Given the description of an element on the screen output the (x, y) to click on. 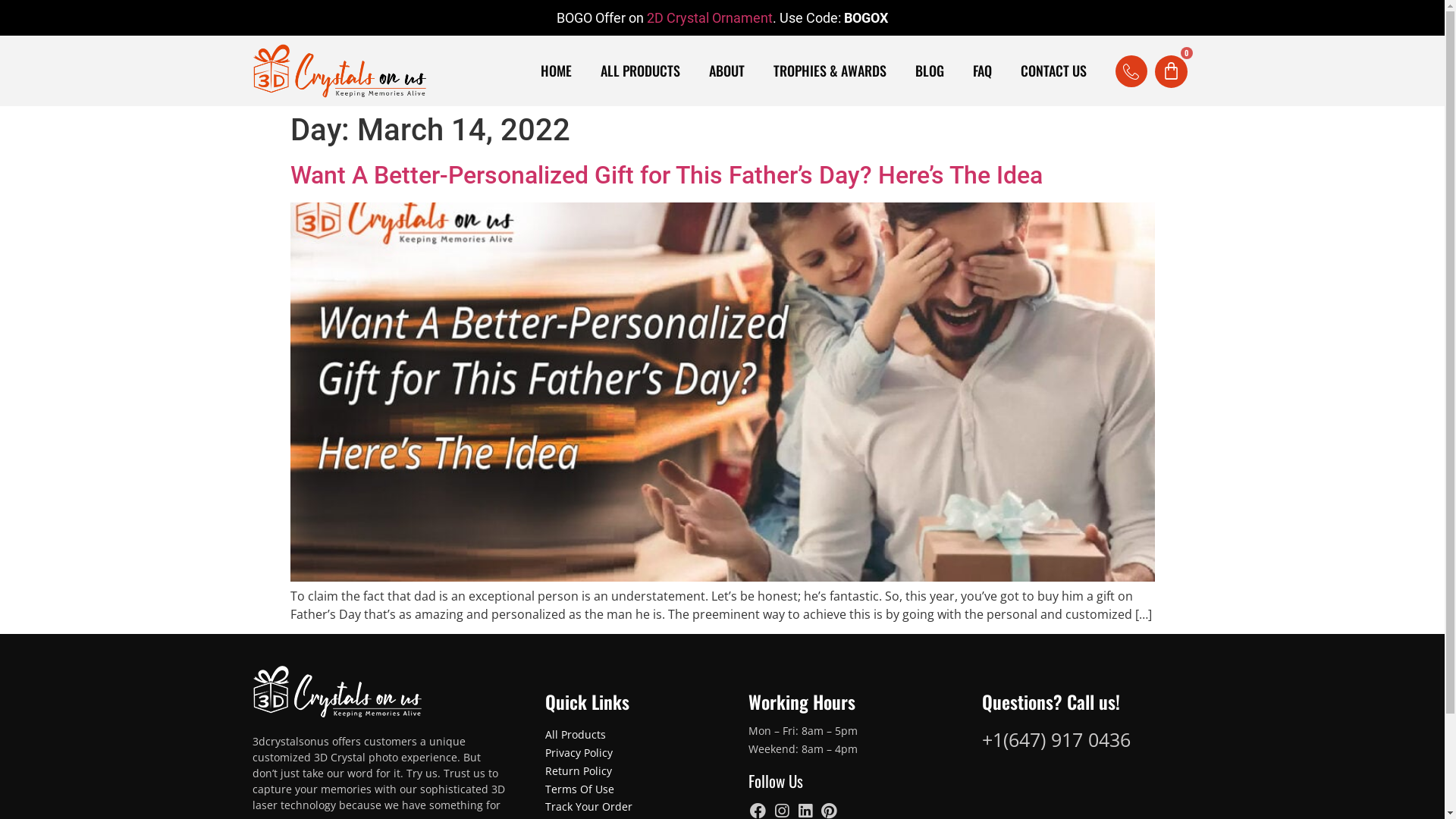
CONTACT US Element type: text (1053, 70)
Privacy Policy Element type: text (578, 752)
ALL PRODUCTS Element type: text (639, 70)
All Products Element type: text (575, 734)
FAQ Element type: text (982, 70)
TROPHIES & AWARDS Element type: text (829, 70)
ABOUT Element type: text (726, 70)
Terms Of Use Element type: text (579, 788)
2D Crystal Ornament Element type: text (709, 17)
Return Policy Element type: text (578, 770)
HOME Element type: text (556, 70)
BLOG Element type: text (929, 70)
+1(647) 917 0436 Element type: text (1056, 739)
Track Your Order Element type: text (588, 806)
